Given the description of an element on the screen output the (x, y) to click on. 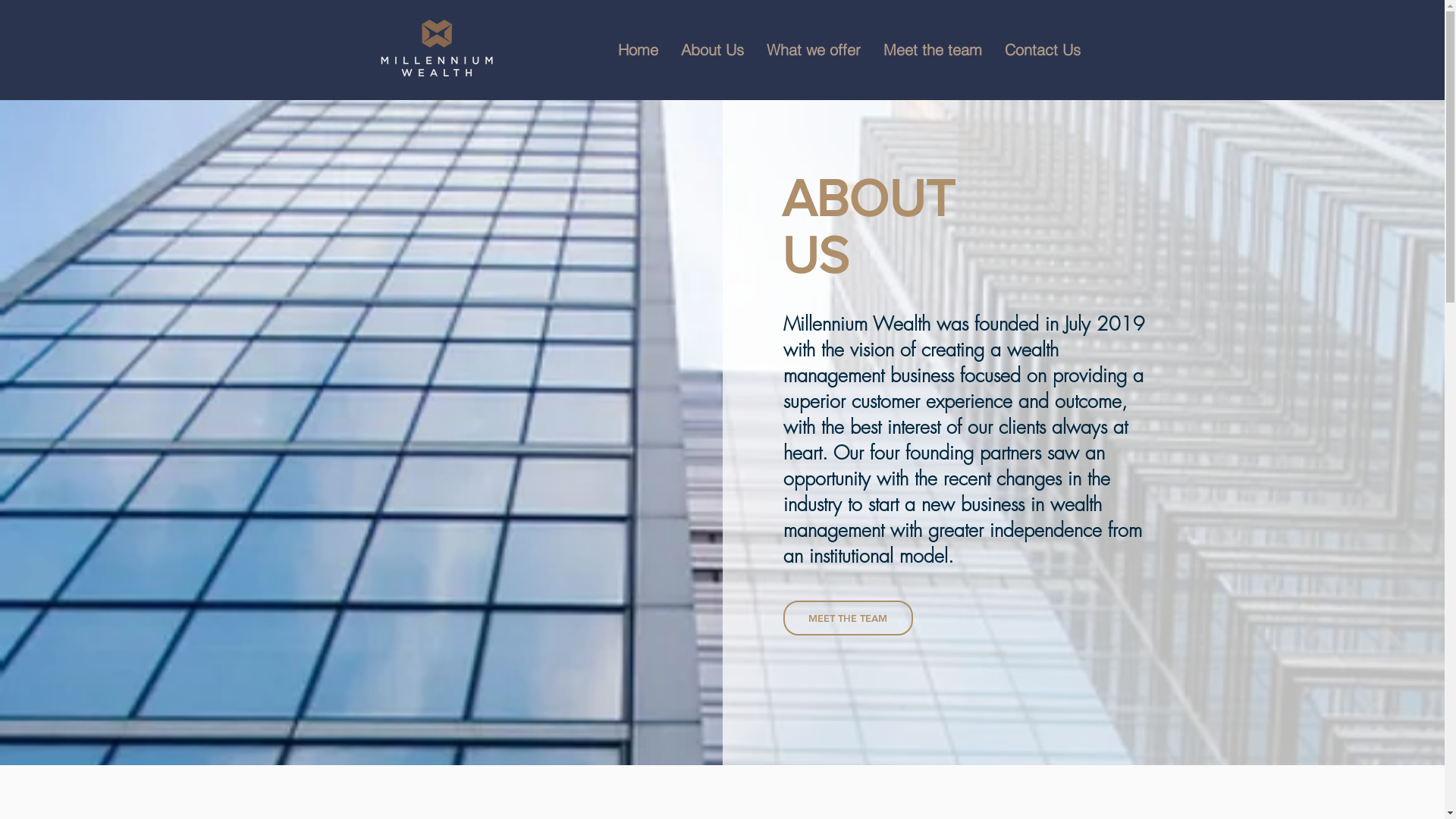
Meet the team Element type: text (932, 50)
What we offer Element type: text (813, 50)
Home Element type: text (637, 50)
MEET THE TEAM Element type: text (847, 617)
Contact Us Element type: text (1042, 50)
About Us Element type: text (711, 50)
